Given the description of an element on the screen output the (x, y) to click on. 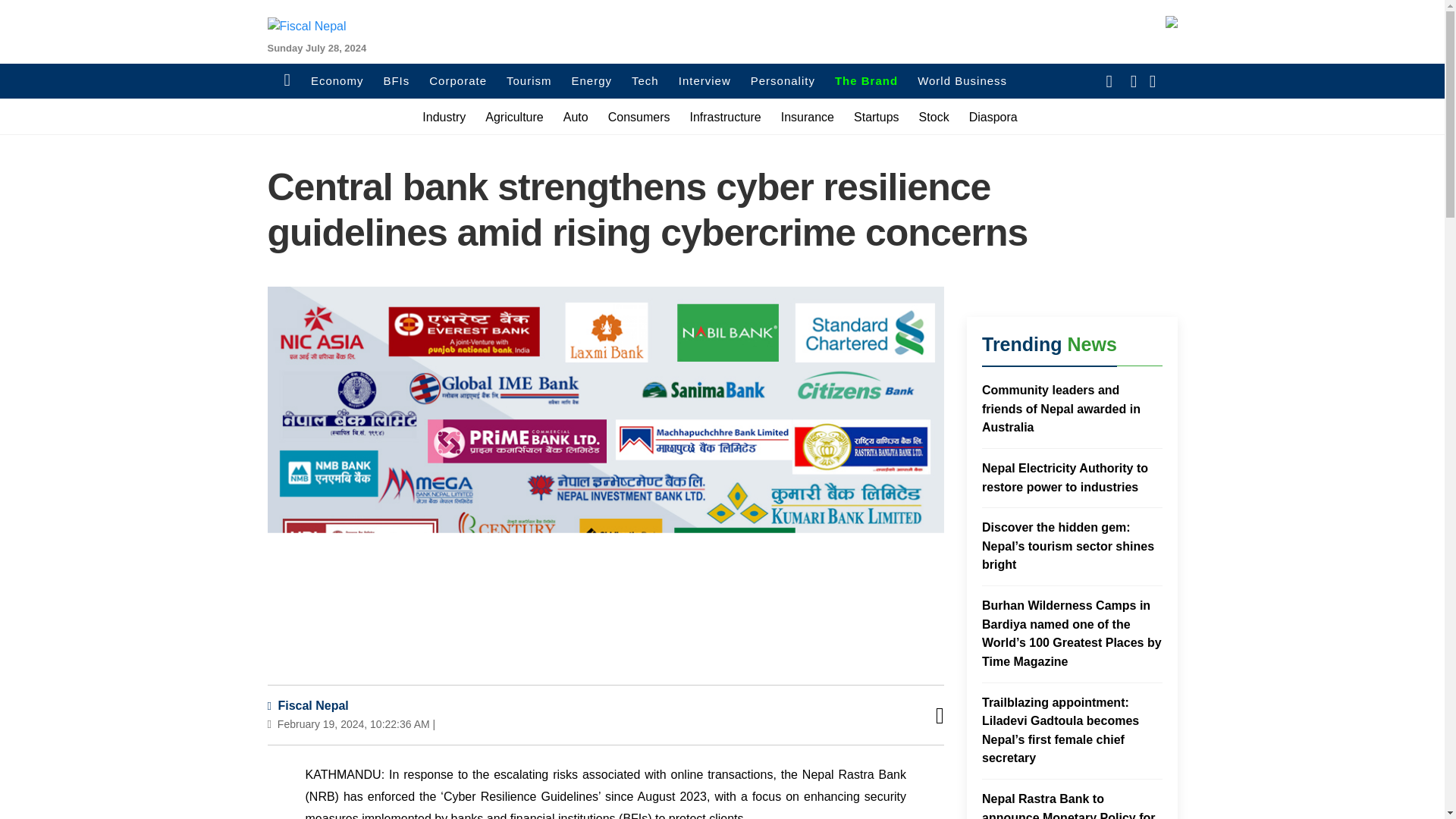
Industry (443, 116)
Corporate (458, 81)
Insurance (807, 116)
The Brand (866, 81)
World Business (962, 81)
Tech (645, 81)
Fiscal Nepal (299, 60)
Economy (336, 81)
Fiscal Nepal (306, 705)
Startups (876, 116)
Energy (592, 81)
